Given the description of an element on the screen output the (x, y) to click on. 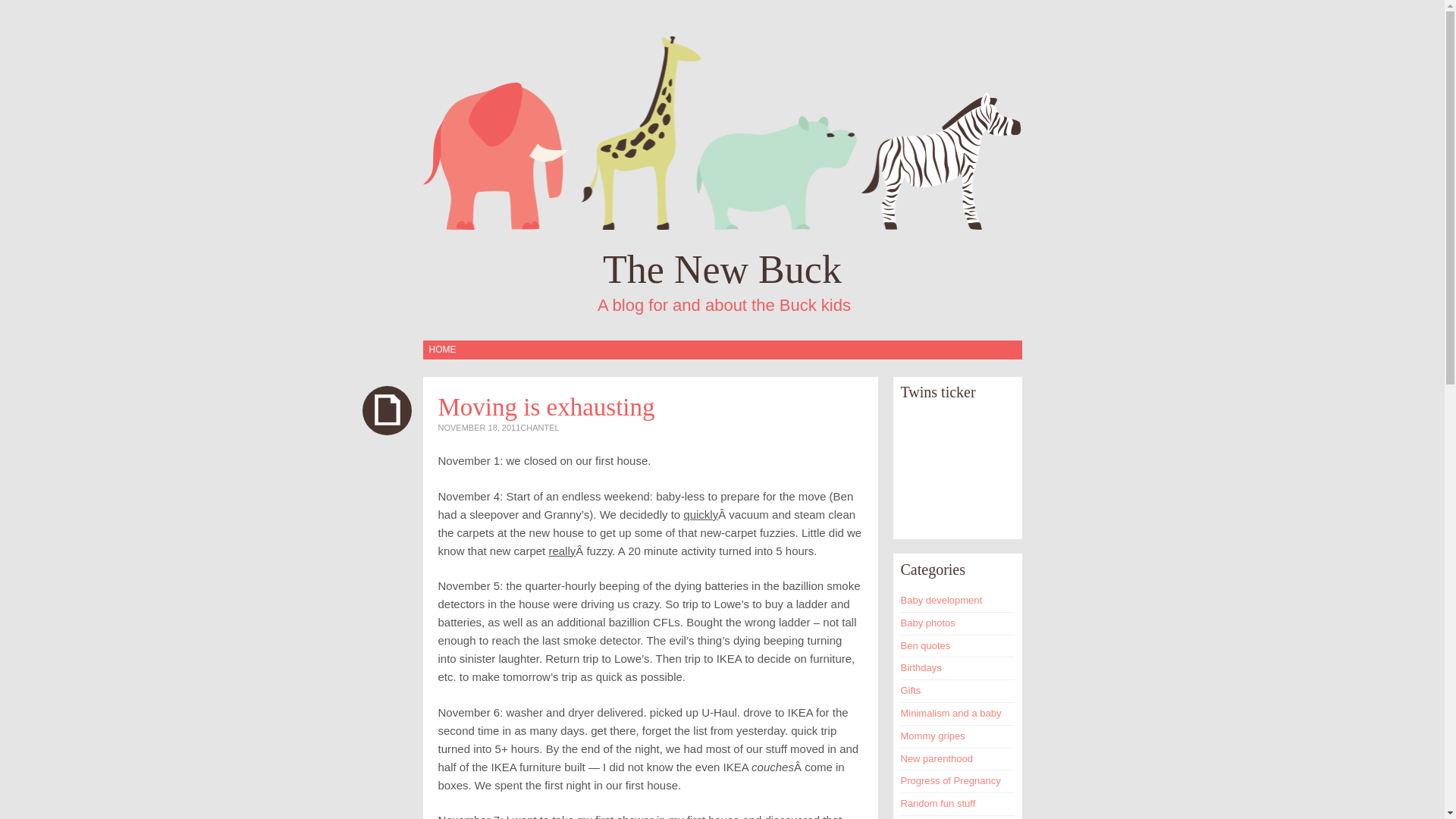
Baby photos (928, 622)
Ben quotes (925, 645)
View all posts by Chantel (539, 427)
CHANTEL (539, 427)
Mommy gripes (933, 736)
Birthdays (921, 667)
Progress of Pregnancy (951, 780)
The New Buck (721, 269)
NOVEMBER 18, 2011 (479, 427)
The New Buck (722, 132)
Random fun stuff (938, 803)
11:45 pm (479, 427)
Gifts (911, 690)
Minimalism and a baby (951, 713)
Baby development (941, 600)
